Given the description of an element on the screen output the (x, y) to click on. 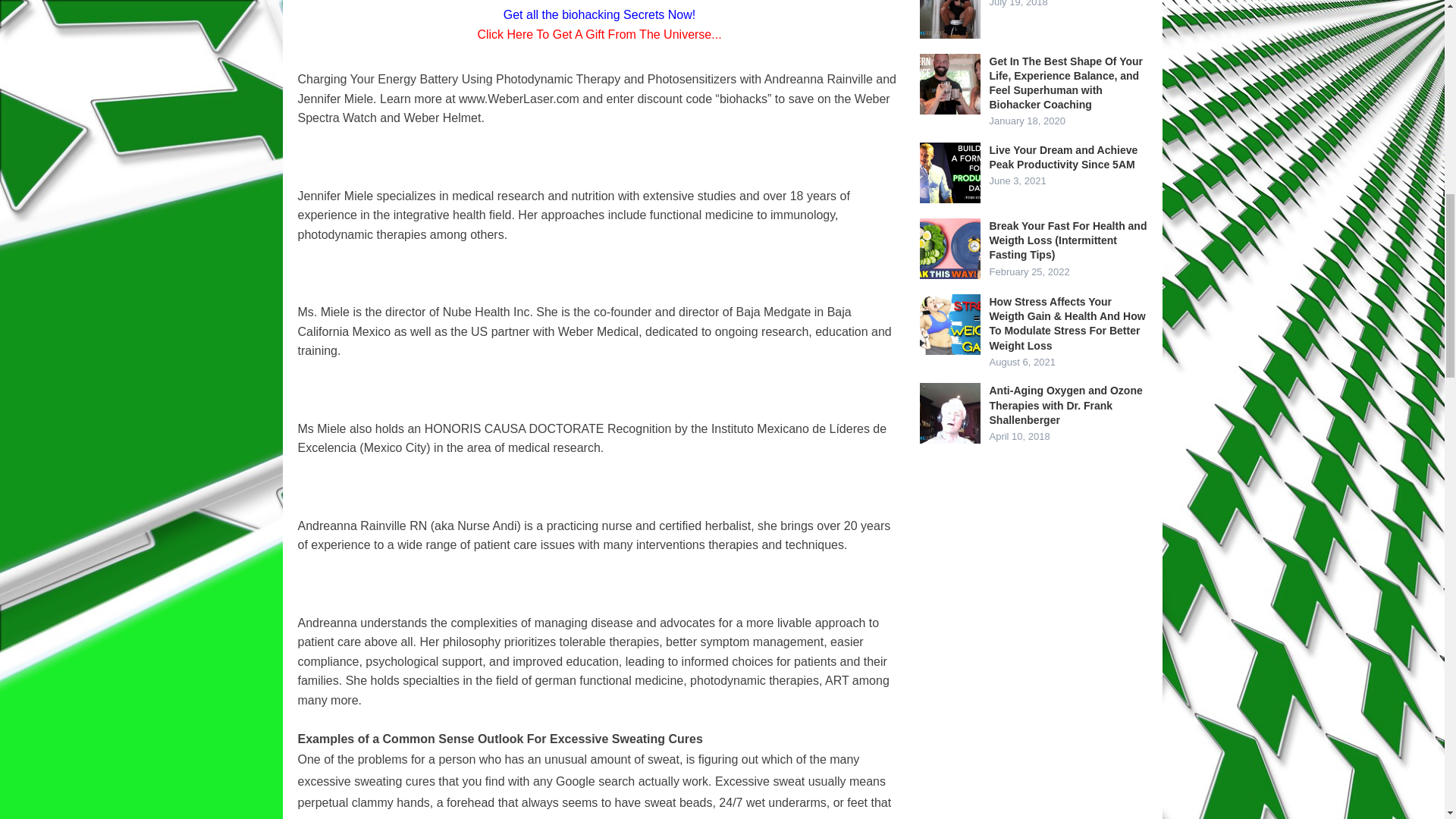
Do You Have Parasites? 17 (948, 19)
Live Your Dream and Achieve Peak Productivity Since 5AM 19 (948, 172)
Get all the biohacking Secrets Now! (599, 14)
Click Here To Get A Gift From The Universe... (598, 33)
